Given the description of an element on the screen output the (x, y) to click on. 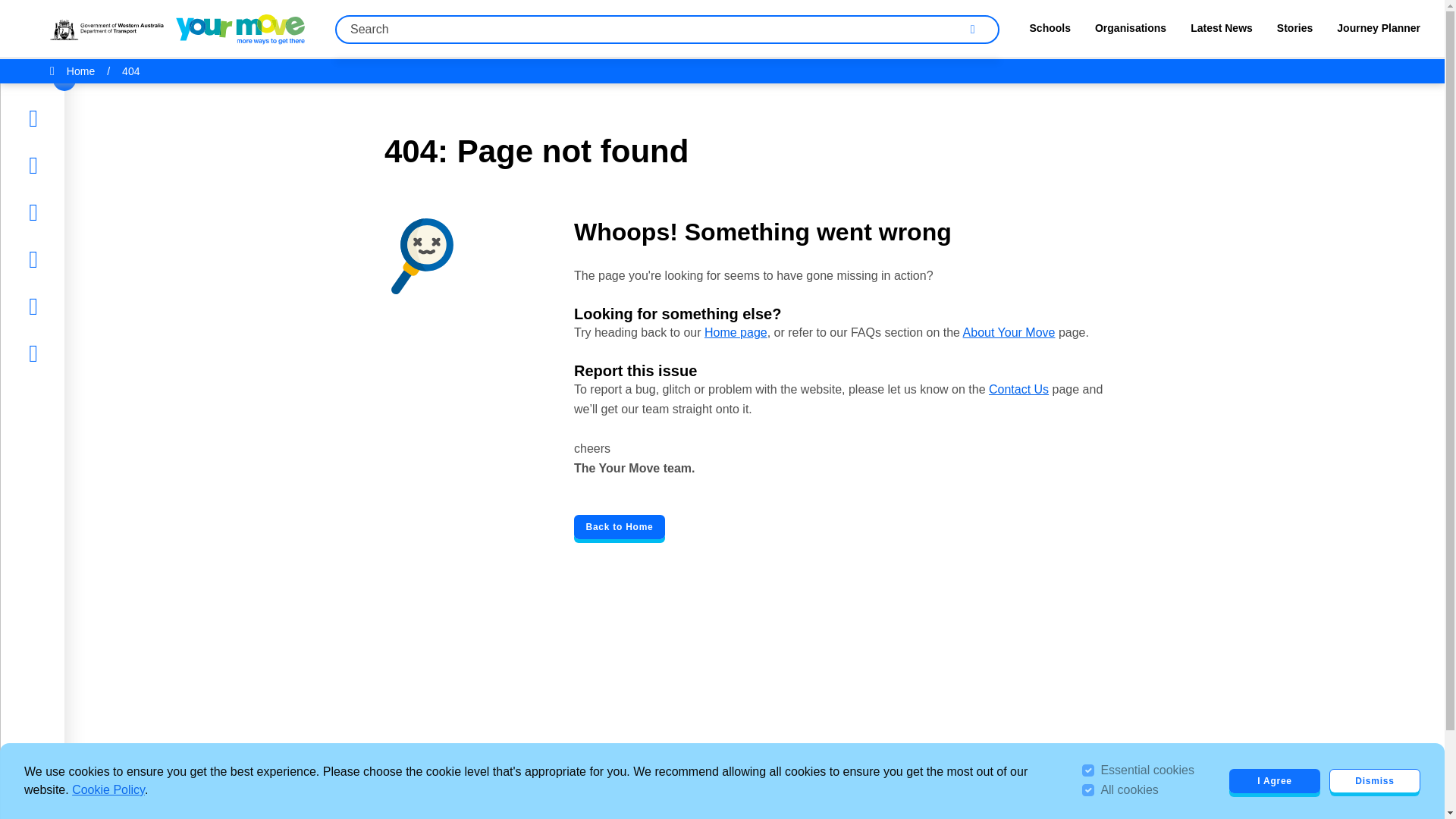
Back to Home (619, 526)
Stories (1294, 31)
Journey Planner (87, 305)
Home (59, 118)
Home page (735, 332)
Schools (1049, 31)
Latest News (1221, 31)
Search (972, 29)
toggle side navigation (63, 78)
Resources (71, 259)
Latest News (77, 211)
Organisations (1130, 31)
About Your Move (1008, 332)
Contact Us (1018, 389)
Cookie Policy (107, 789)
